Given the description of an element on the screen output the (x, y) to click on. 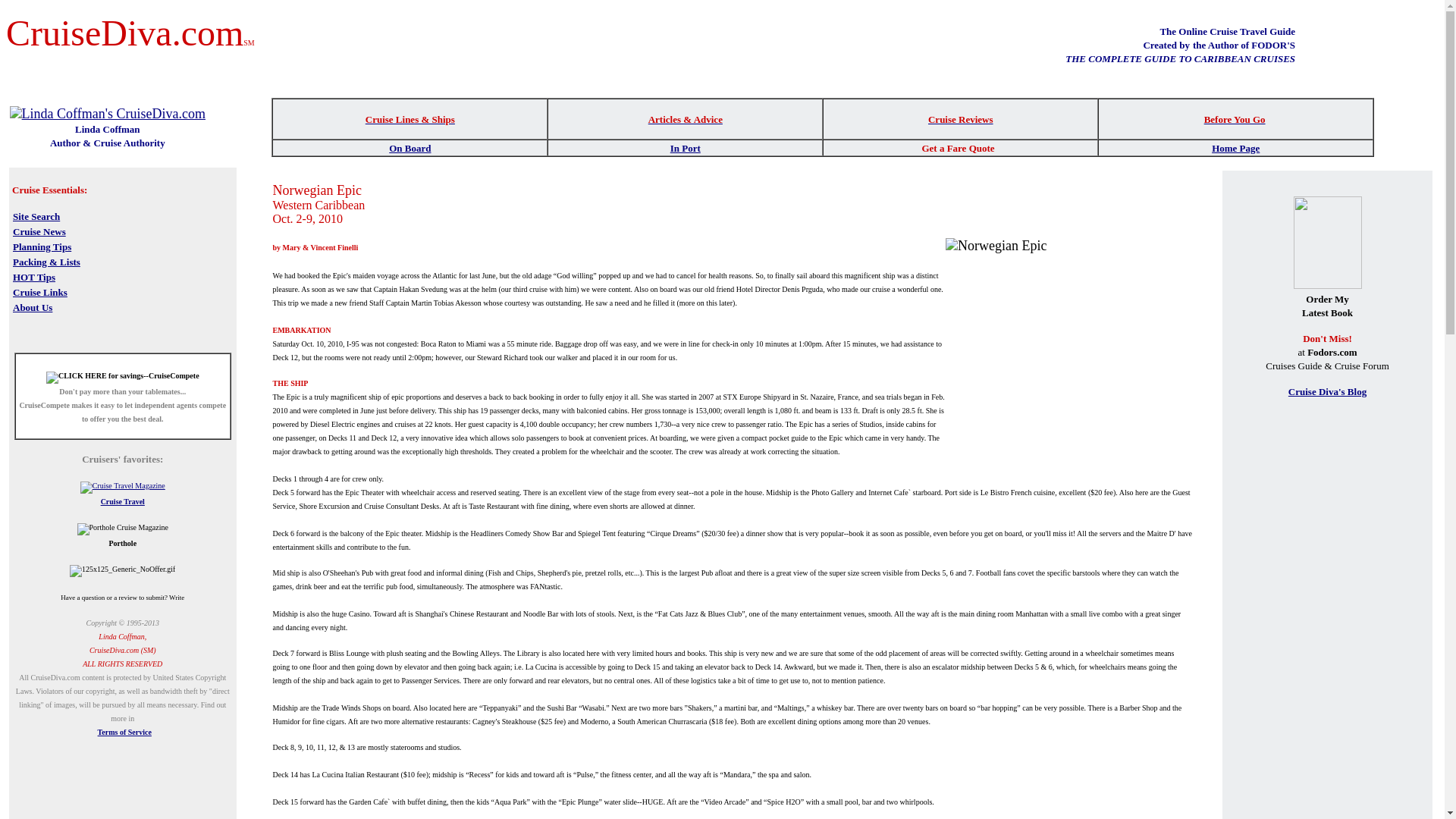
Cruise Diva's Blog (1327, 391)
Before You Go (1234, 118)
Home Page (1235, 147)
Terms of Service (124, 732)
Cruise Travel (122, 501)
Cruise Reviews (960, 118)
Planning Tips (42, 245)
In Port (684, 146)
Site Search (36, 215)
On Board (409, 146)
